Given the description of an element on the screen output the (x, y) to click on. 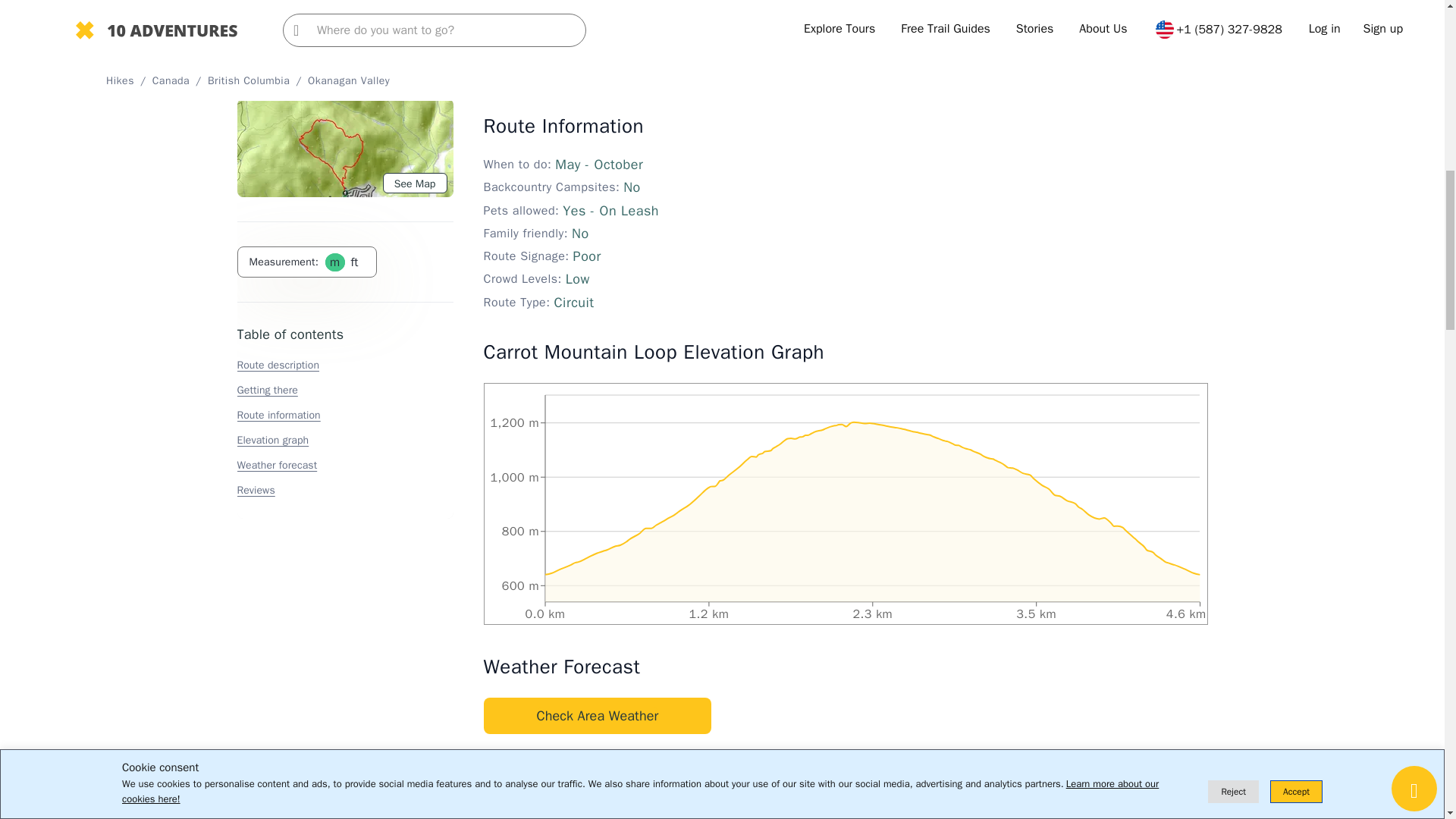
Route information (277, 10)
Weather forecast (276, 60)
Elevation graph (271, 35)
Reviews (255, 85)
